Given the description of an element on the screen output the (x, y) to click on. 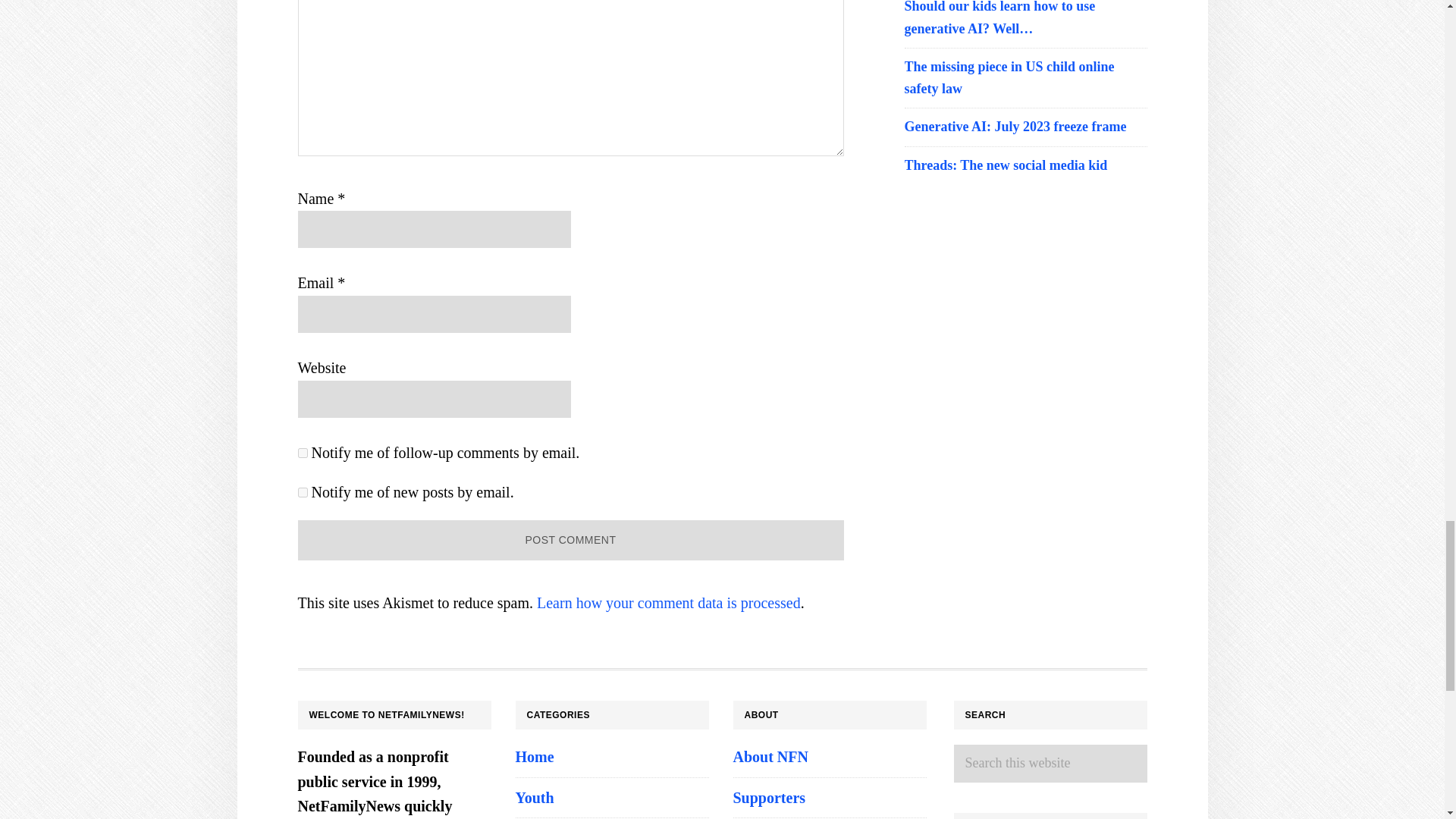
subscribe (302, 452)
subscribe (302, 492)
Post Comment (570, 540)
